Given the description of an element on the screen output the (x, y) to click on. 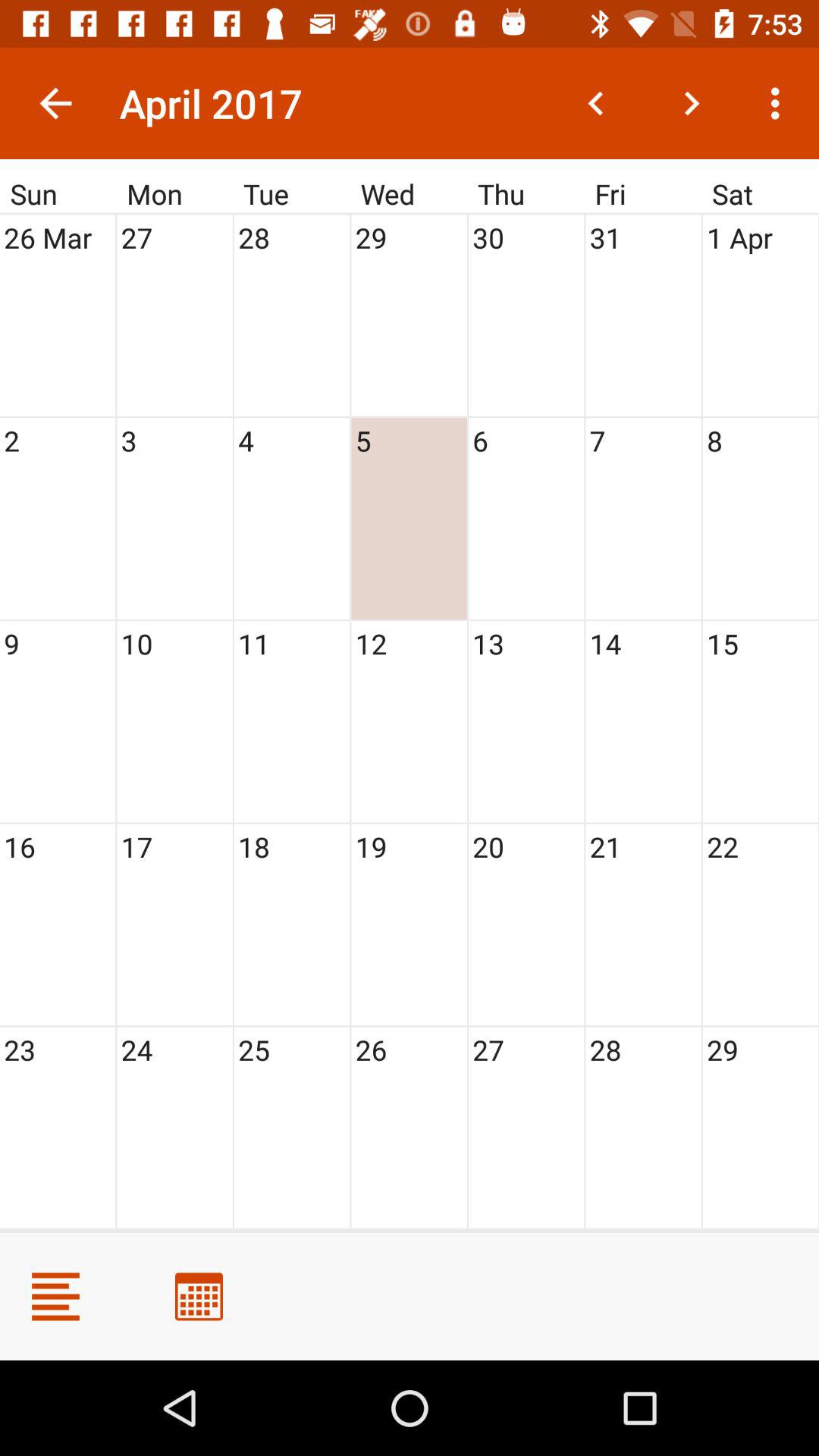
launch the item above sun icon (55, 103)
